Given the description of an element on the screen output the (x, y) to click on. 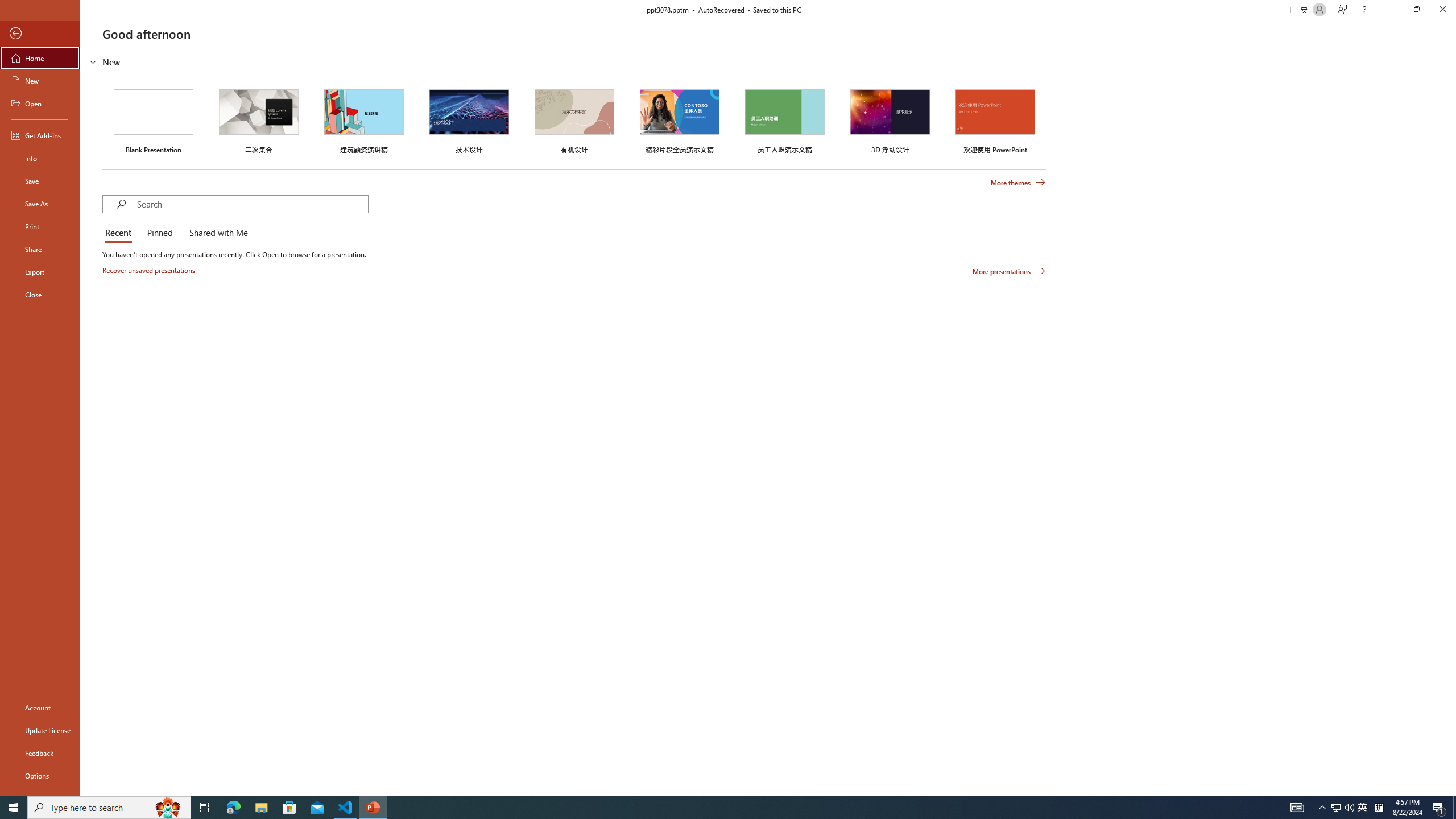
Account (40, 707)
Feedback (40, 753)
Save As (40, 203)
Export (40, 271)
New (40, 80)
Class: NetUIScrollBar (1450, 421)
